Given the description of an element on the screen output the (x, y) to click on. 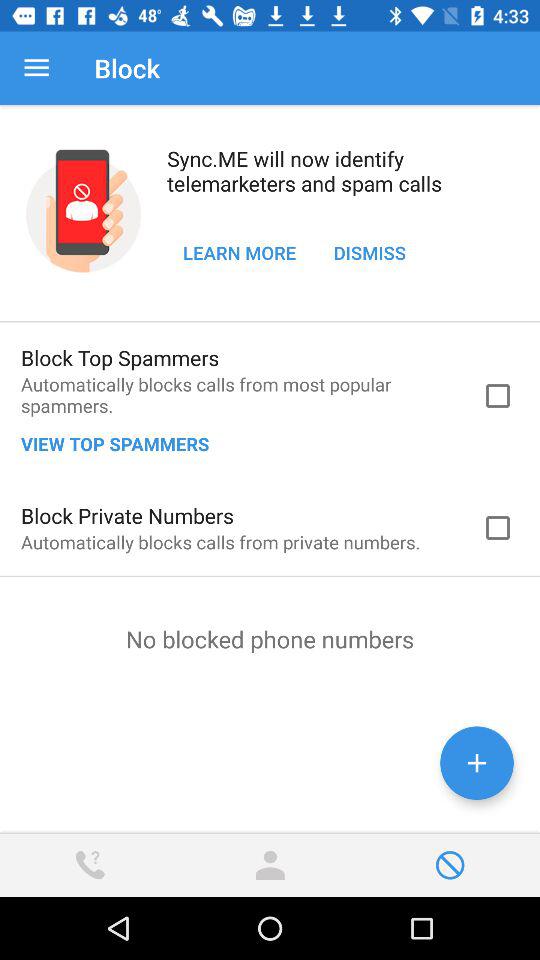
turn on icon below no blocked phone icon (476, 762)
